Given the description of an element on the screen output the (x, y) to click on. 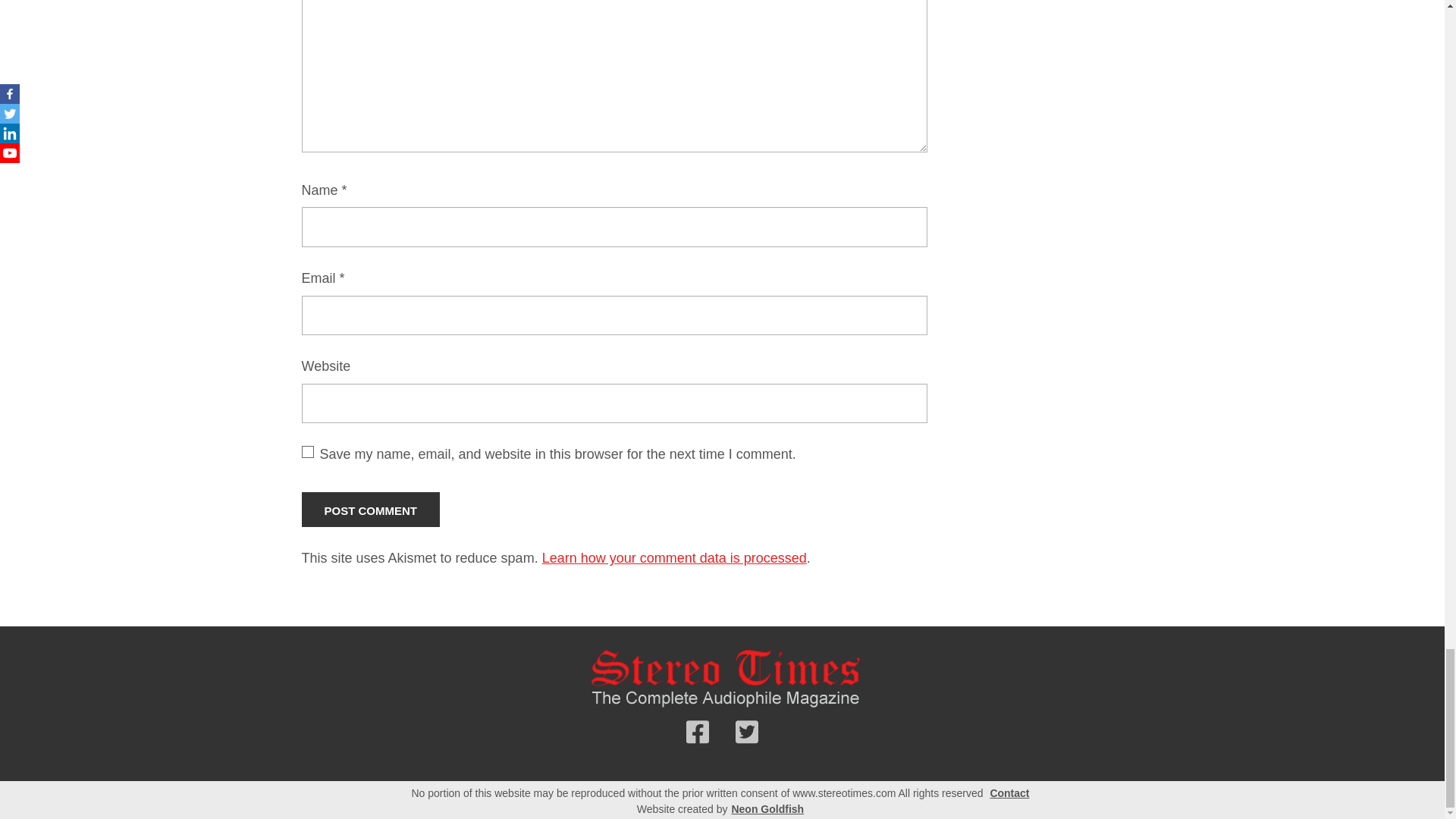
Contact (1008, 792)
Post Comment (371, 509)
Post Comment (371, 509)
Learn how your comment data is processed (673, 557)
